Given the description of an element on the screen output the (x, y) to click on. 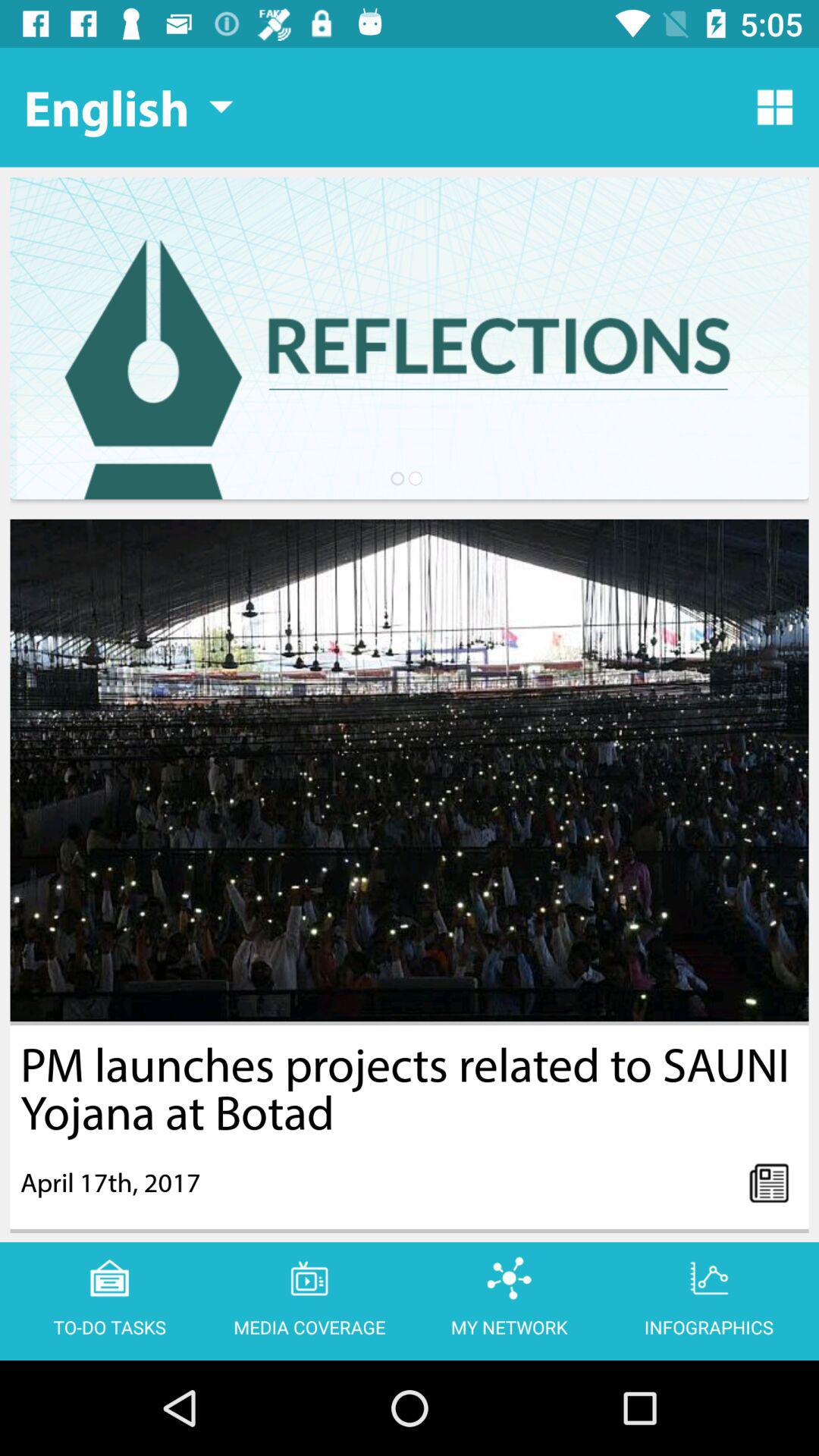
launch the icon at the top left corner (128, 107)
